Given the description of an element on the screen output the (x, y) to click on. 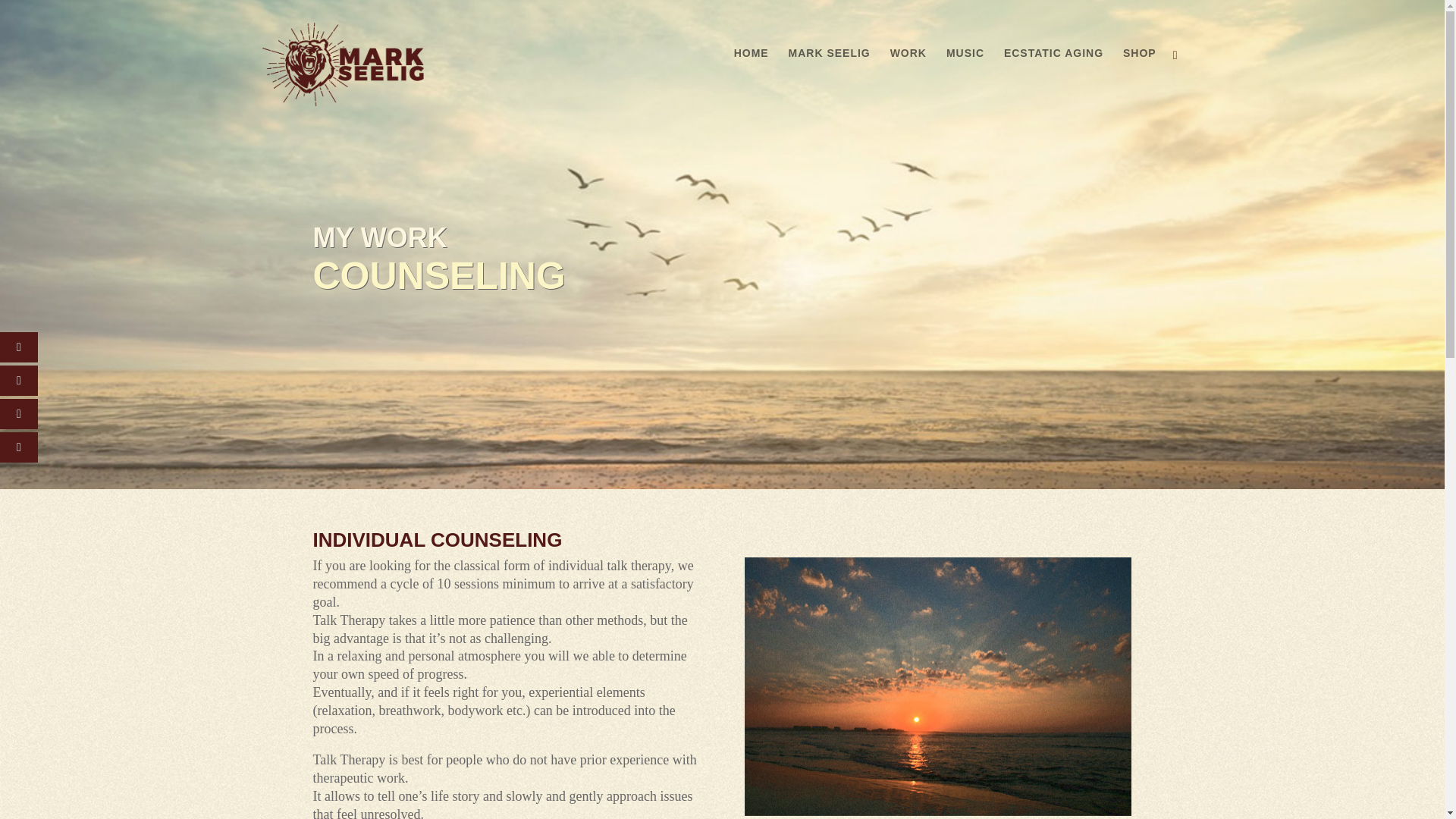
MARK SEELIG (829, 65)
HOME (750, 65)
ECSTATIC AGING (1053, 65)
MUSIC (965, 65)
WORK (907, 65)
SHOP (1139, 65)
